Given the description of an element on the screen output the (x, y) to click on. 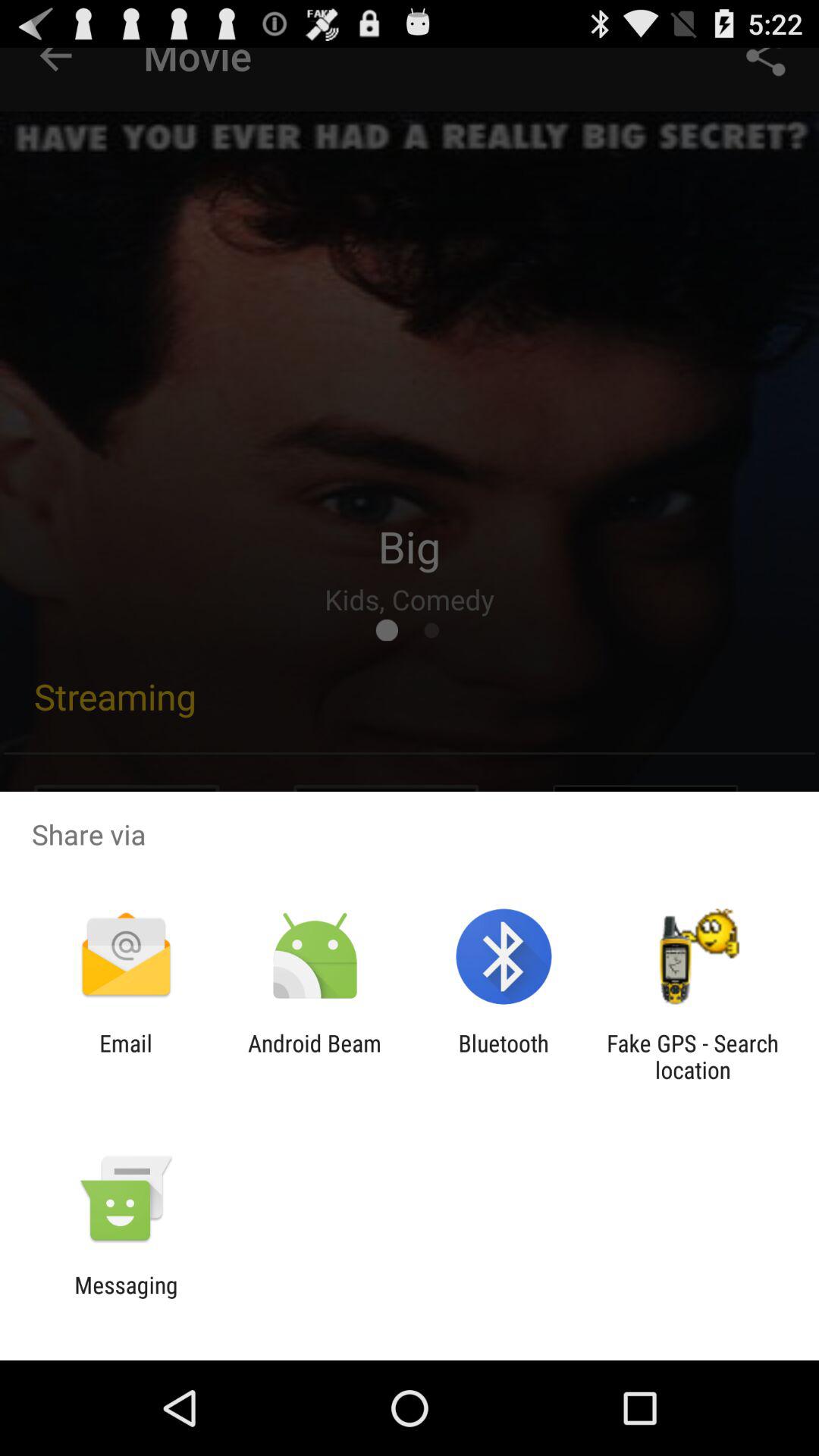
press the item next to email icon (314, 1056)
